Given the description of an element on the screen output the (x, y) to click on. 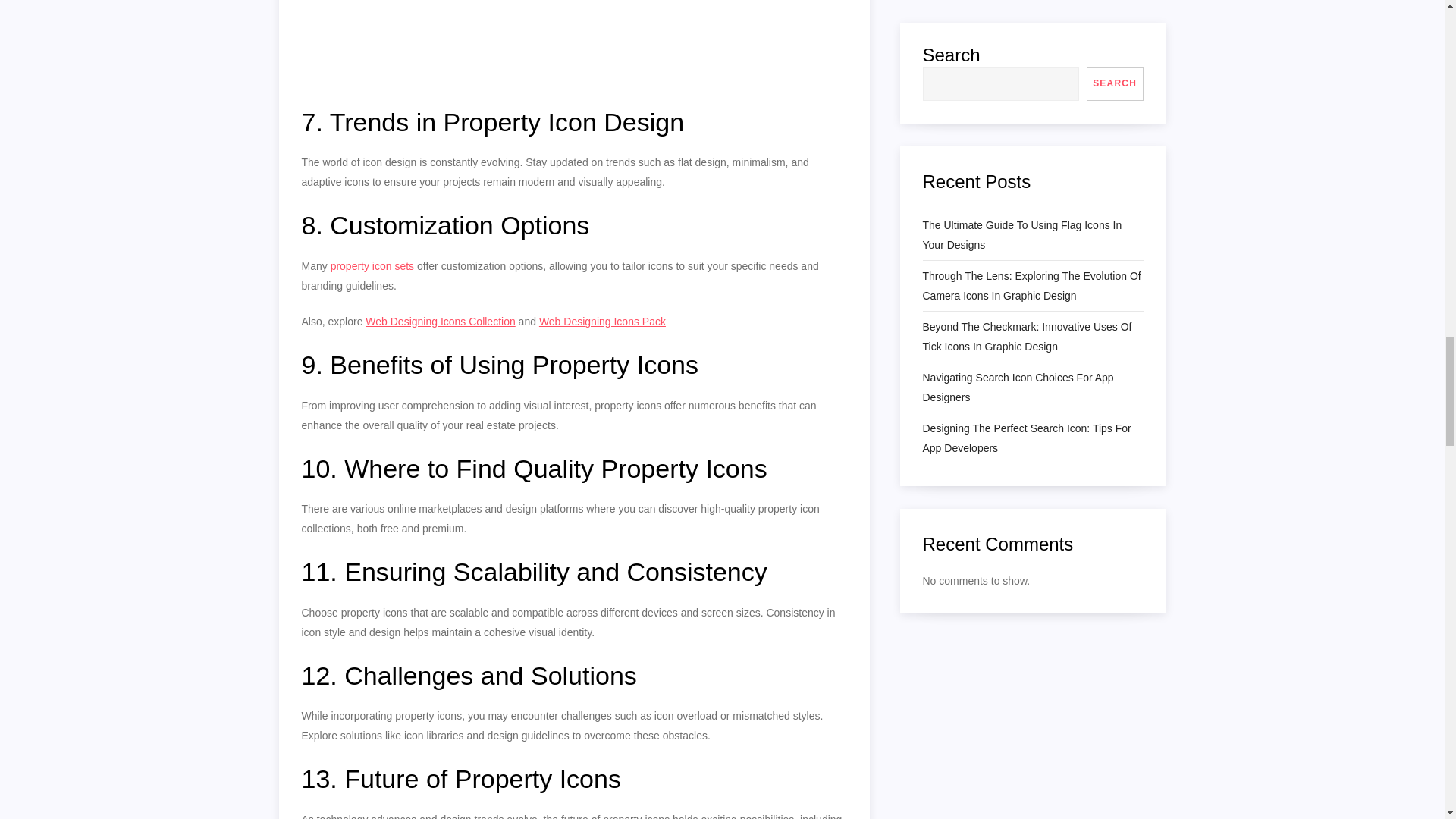
property icon sets (372, 265)
Web Designing Icons Pack (601, 321)
Web Designing Icons Collection (440, 321)
